Given the description of an element on the screen output the (x, y) to click on. 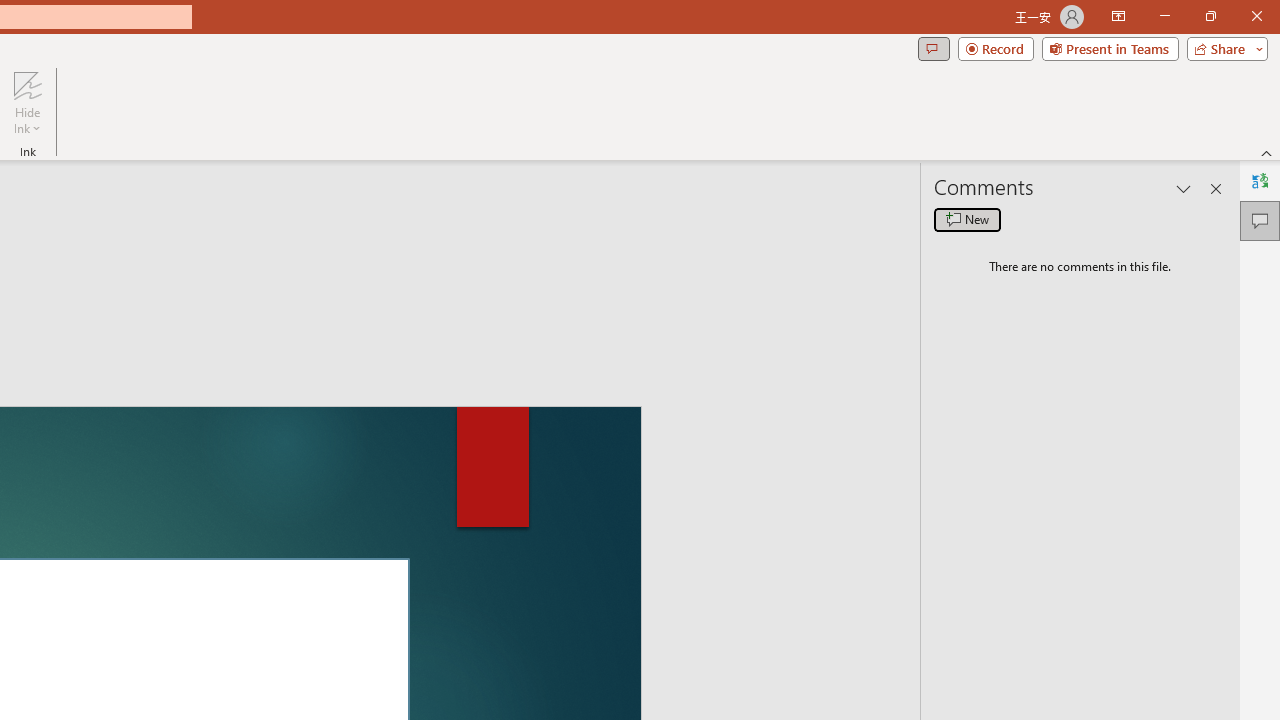
New comment (967, 219)
Hide Ink (27, 102)
Hide Ink (27, 84)
